Given the description of an element on the screen output the (x, y) to click on. 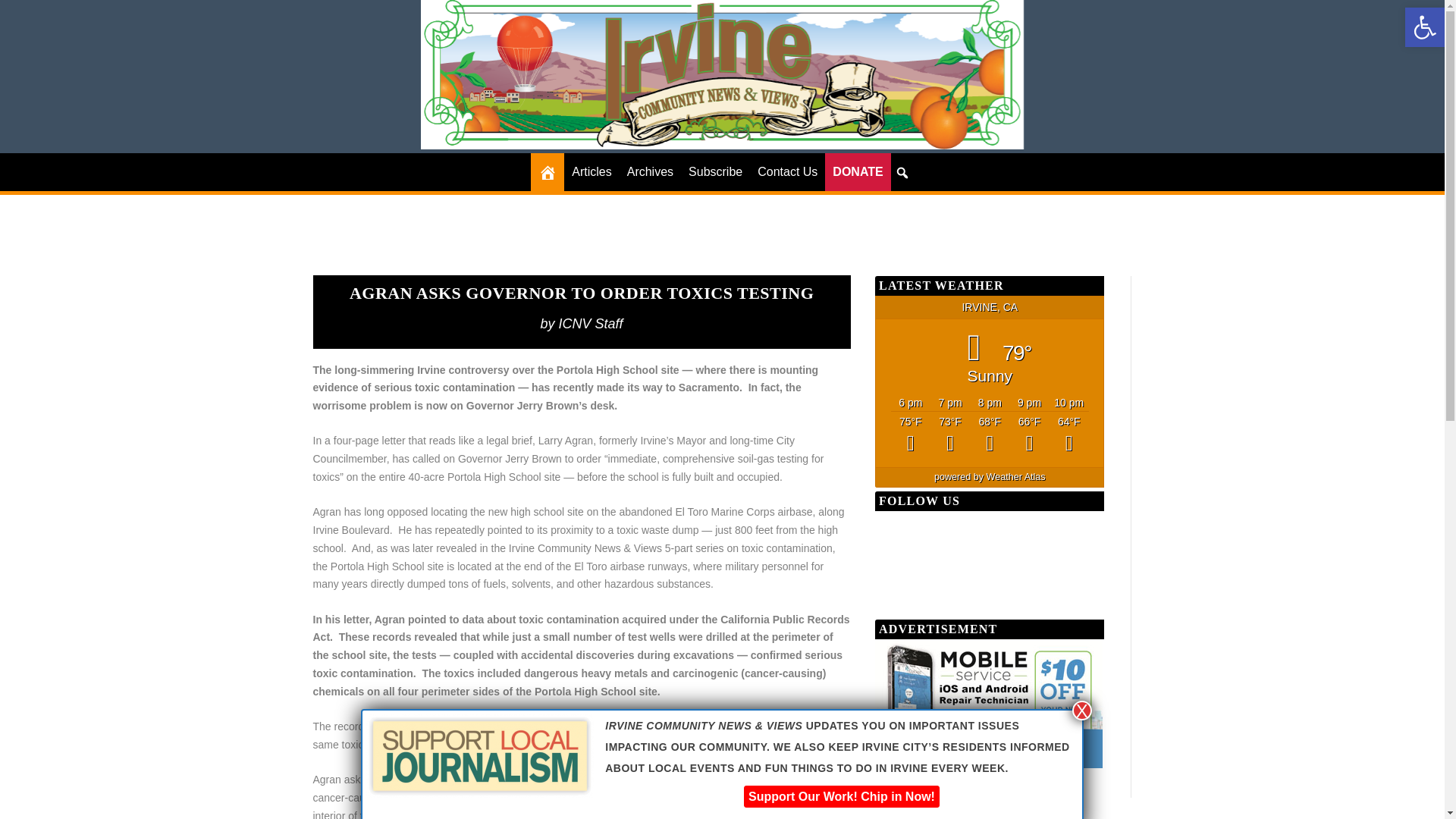
Contact Us (787, 171)
Sunny (949, 435)
Archives (650, 171)
DONATE (857, 171)
Clear (1069, 435)
Clear (1028, 435)
Clear (989, 435)
ICNV Staff (591, 323)
Posts by ICNV Staff (591, 323)
Articles (591, 171)
Accessibility Tools (1424, 27)
Sunny (910, 435)
Subscribe (715, 171)
